Given the description of an element on the screen output the (x, y) to click on. 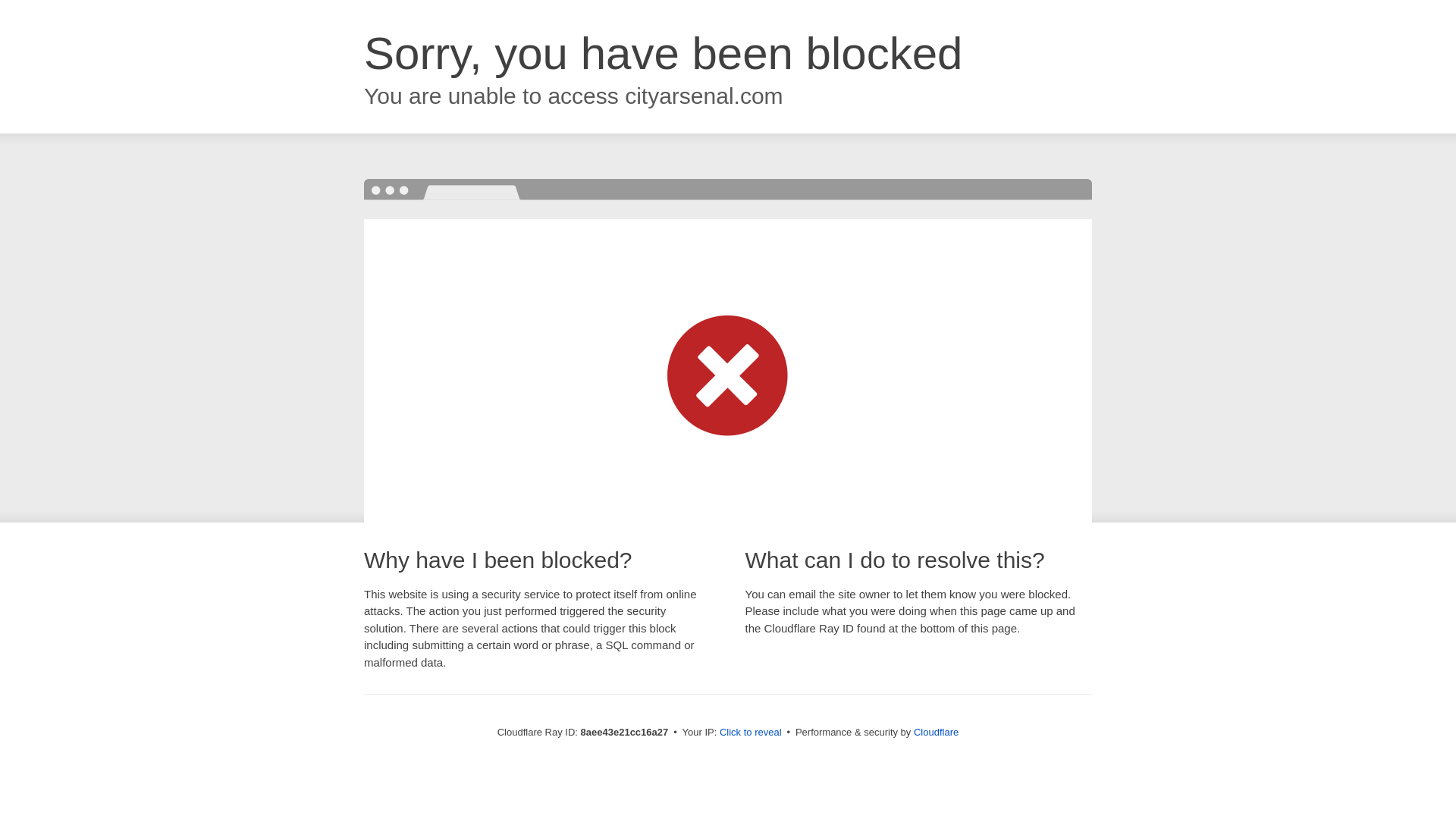
Click to reveal (750, 732)
Cloudflare (936, 731)
